Given the description of an element on the screen output the (x, y) to click on. 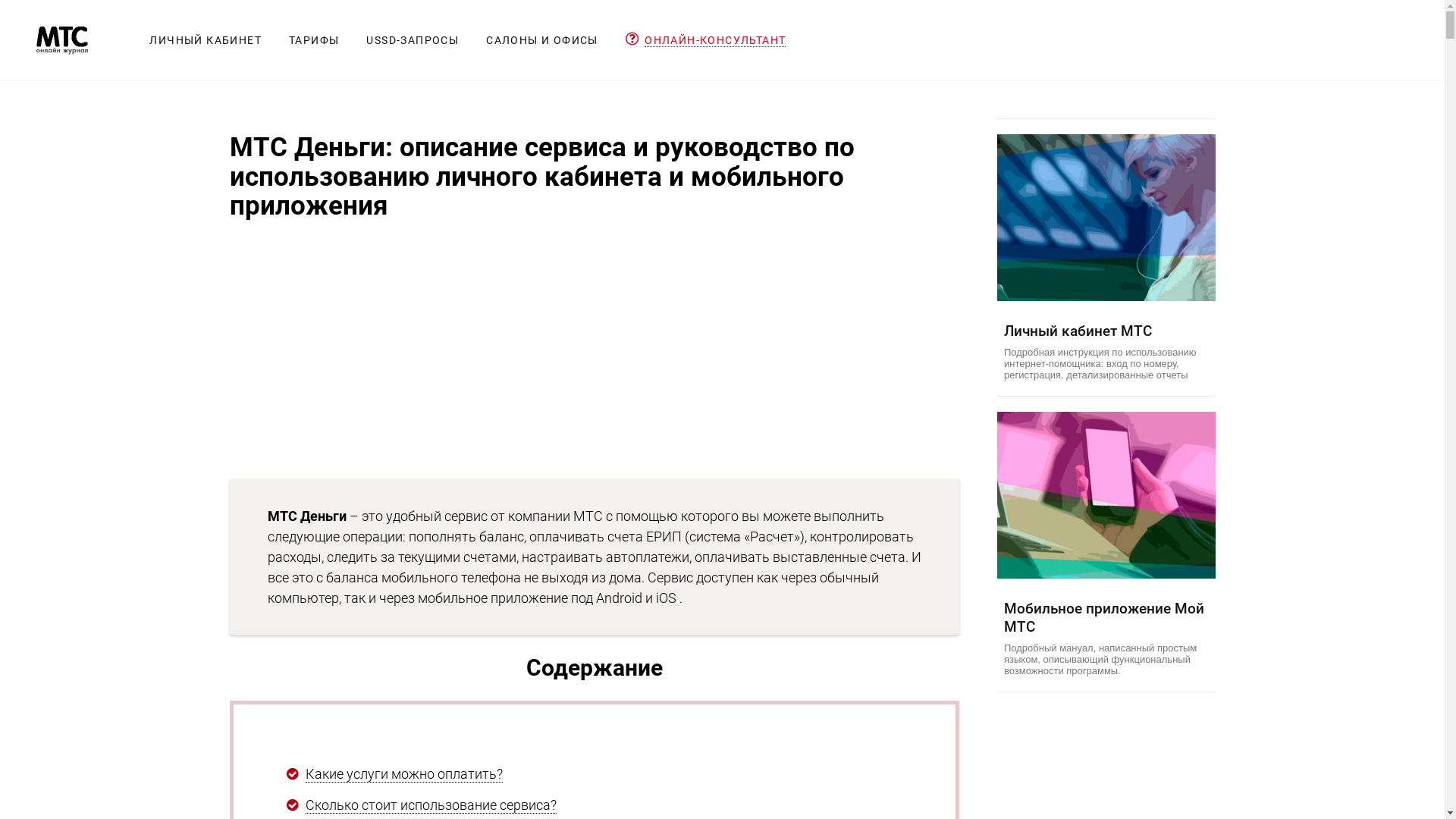
Advertisement Element type: hover (594, 350)
